Given the description of an element on the screen output the (x, y) to click on. 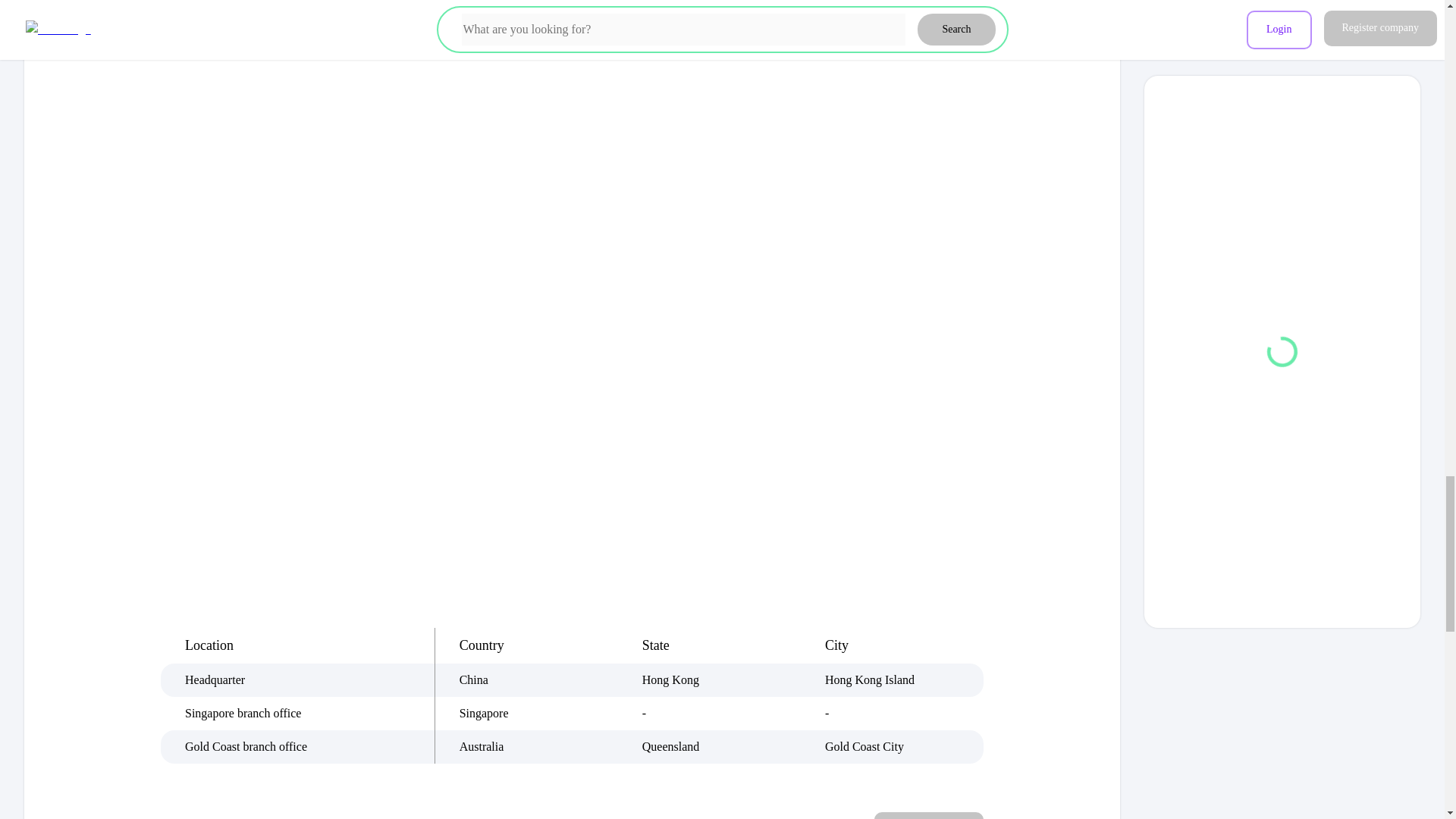
View all locations (929, 815)
